Given the description of an element on the screen output the (x, y) to click on. 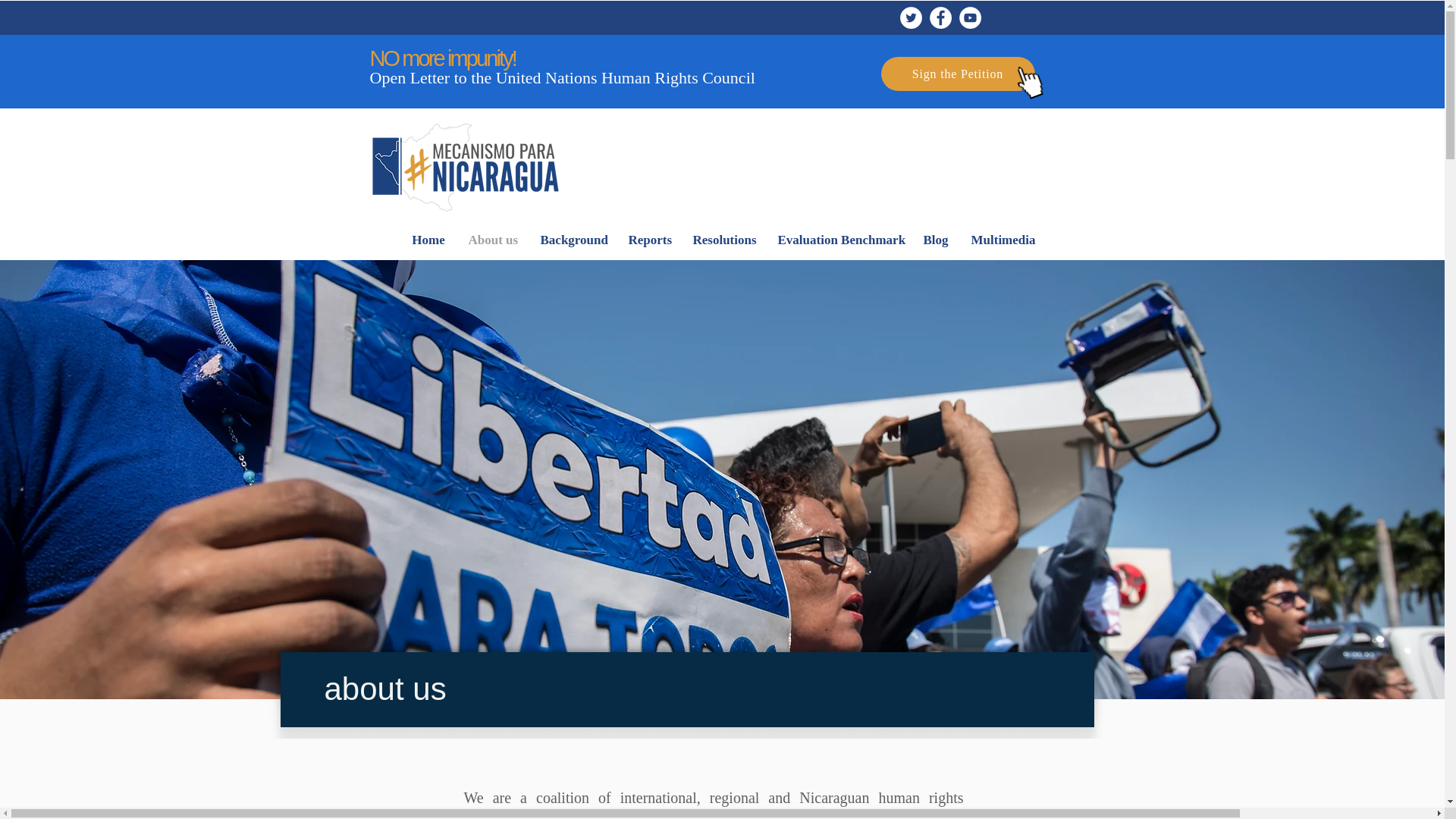
Reports (649, 240)
Blog (935, 240)
Background (573, 240)
Resolutions (723, 240)
About us (492, 240)
Multimedia (1002, 240)
Evaluation Benchmark (838, 240)
Home (428, 240)
Sign the Petition (957, 73)
